Given the description of an element on the screen output the (x, y) to click on. 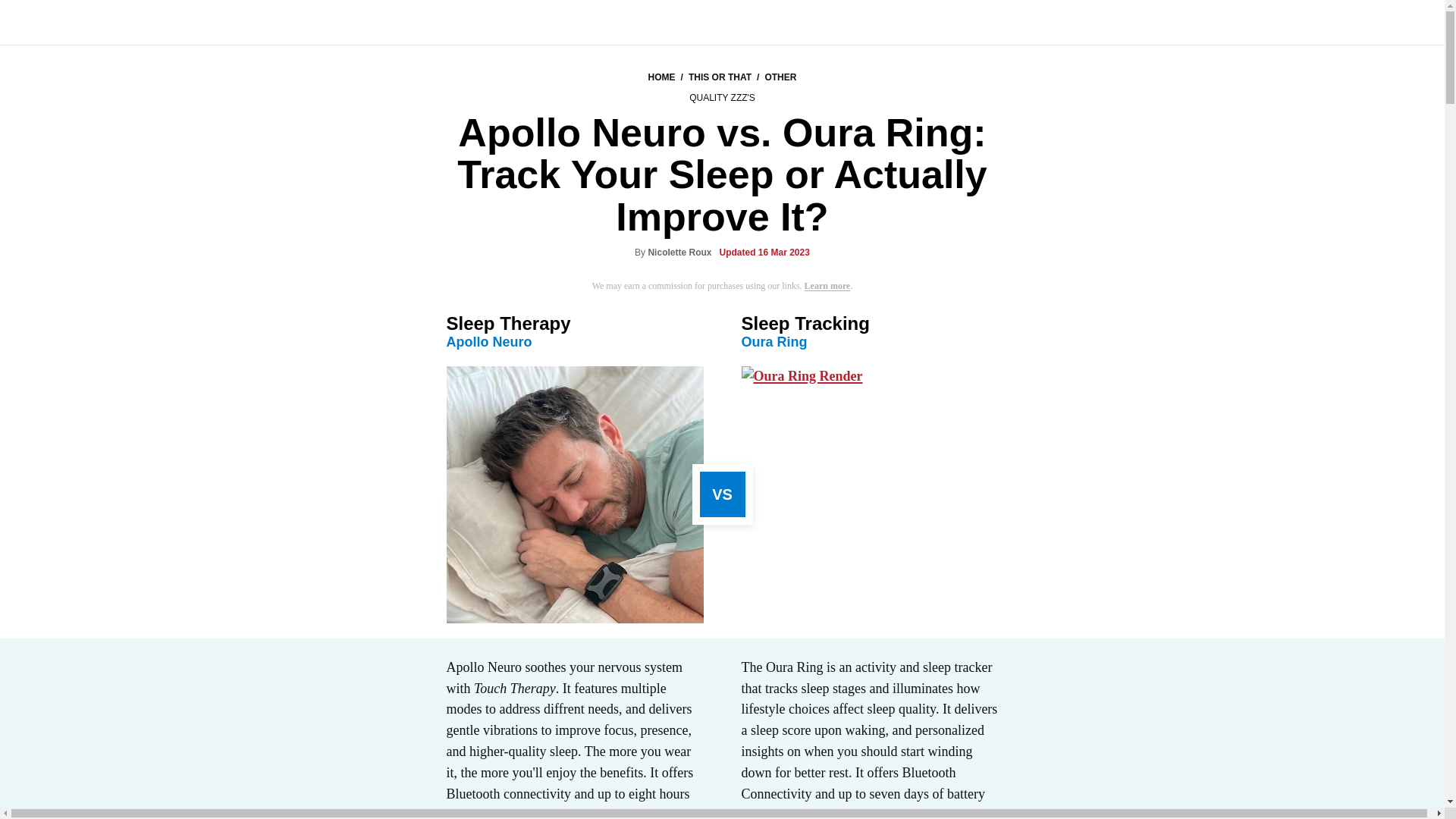
THIS OR THAT (719, 77)
Thu, 16 Mar 2023 16:48:56 -0400 (764, 252)
OTHER (780, 77)
Nicolette Roux (679, 252)
HOME (661, 77)
Learn more (827, 285)
